Given the description of an element on the screen output the (x, y) to click on. 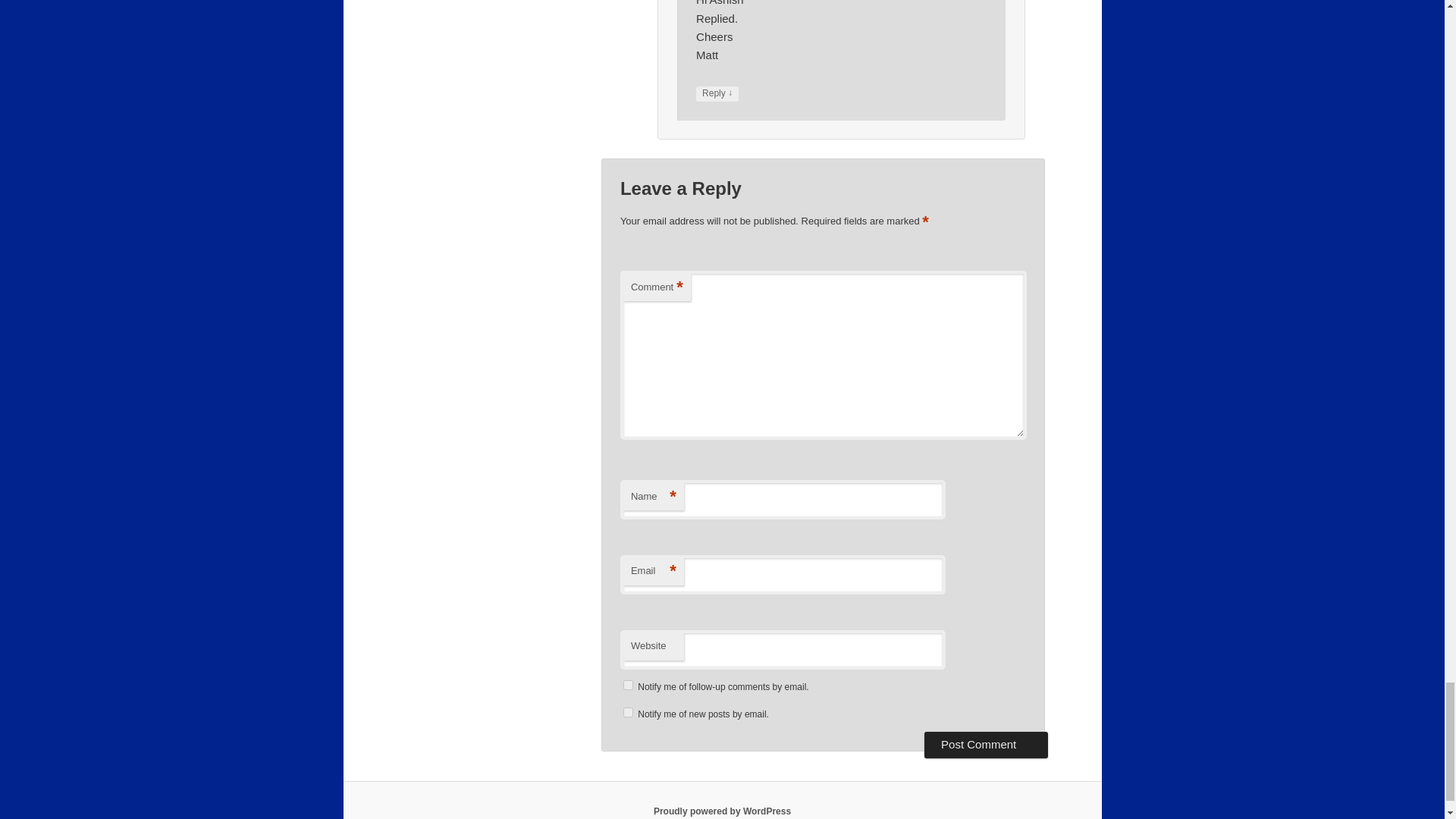
subscribe (628, 685)
subscribe (628, 712)
Post Comment (986, 744)
